Given the description of an element on the screen output the (x, y) to click on. 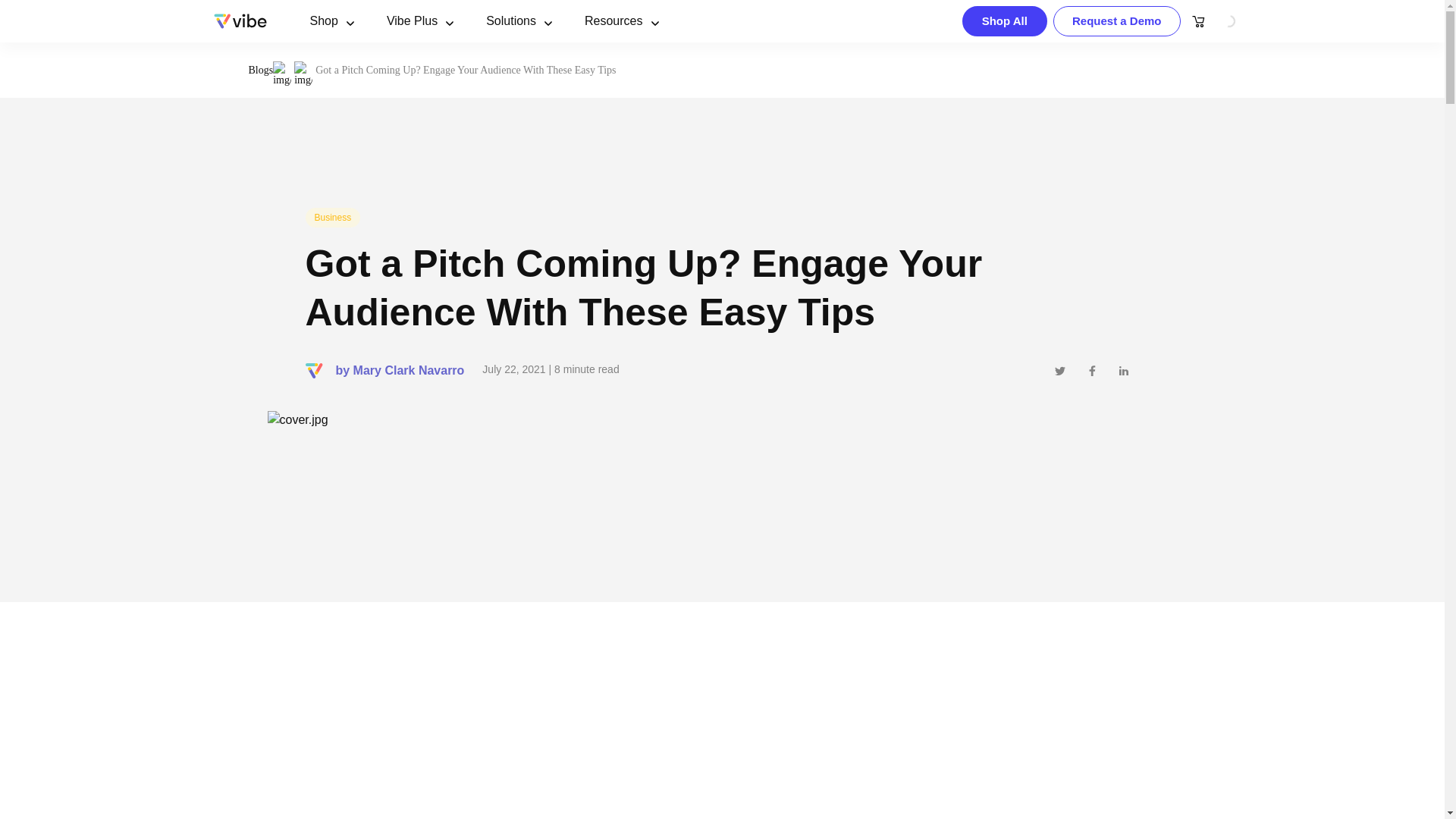
Vibe logo (239, 20)
